Given the description of an element on the screen output the (x, y) to click on. 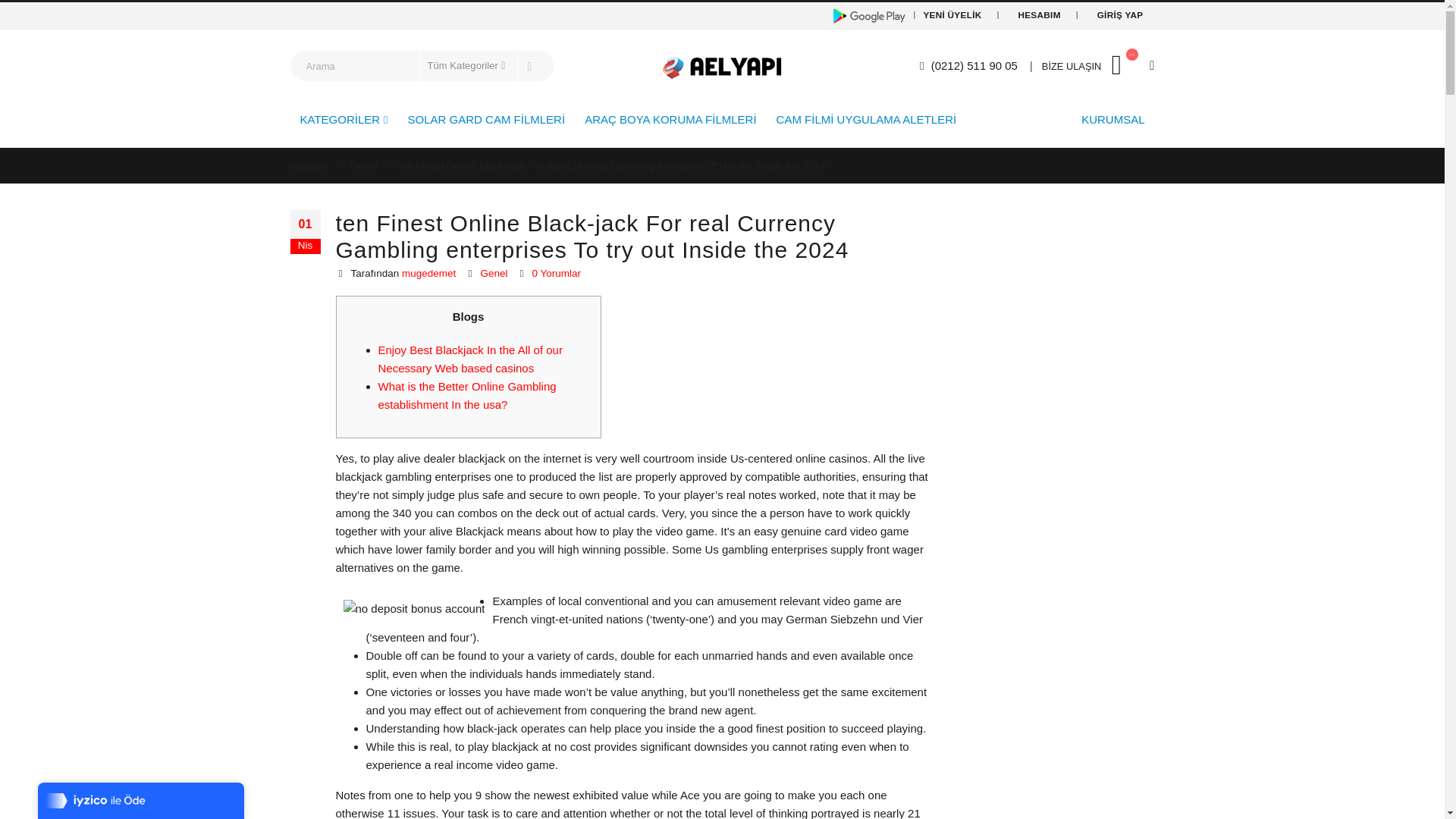
0 Yorumlar (555, 273)
KURUMSAL (1112, 118)
Anasayfa (307, 166)
HESABIM (1038, 14)
Genel (363, 166)
